Given the description of an element on the screen output the (x, y) to click on. 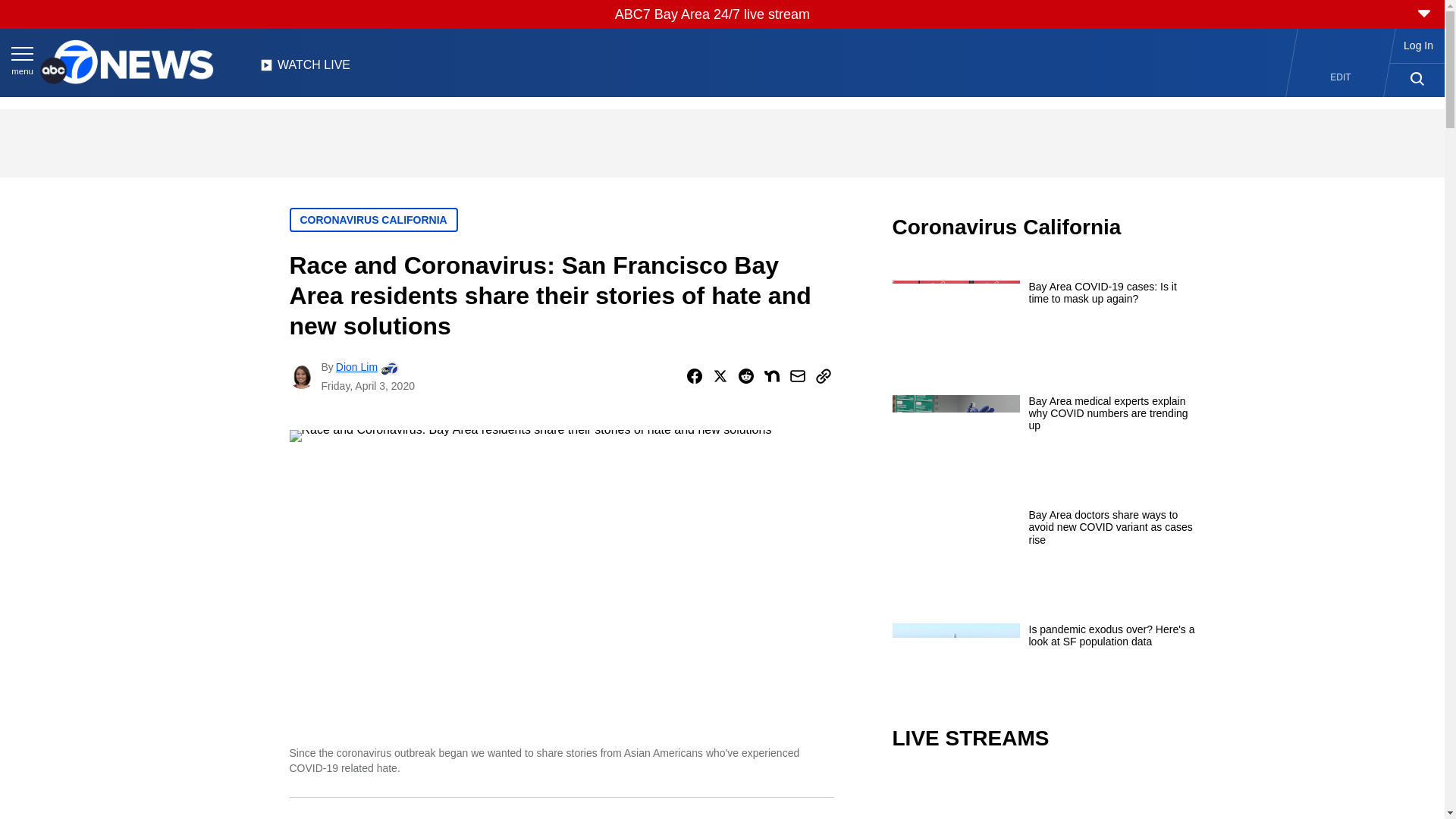
WATCH LIVE (305, 69)
video.title (1043, 796)
EDIT (1340, 77)
